Given the description of an element on the screen output the (x, y) to click on. 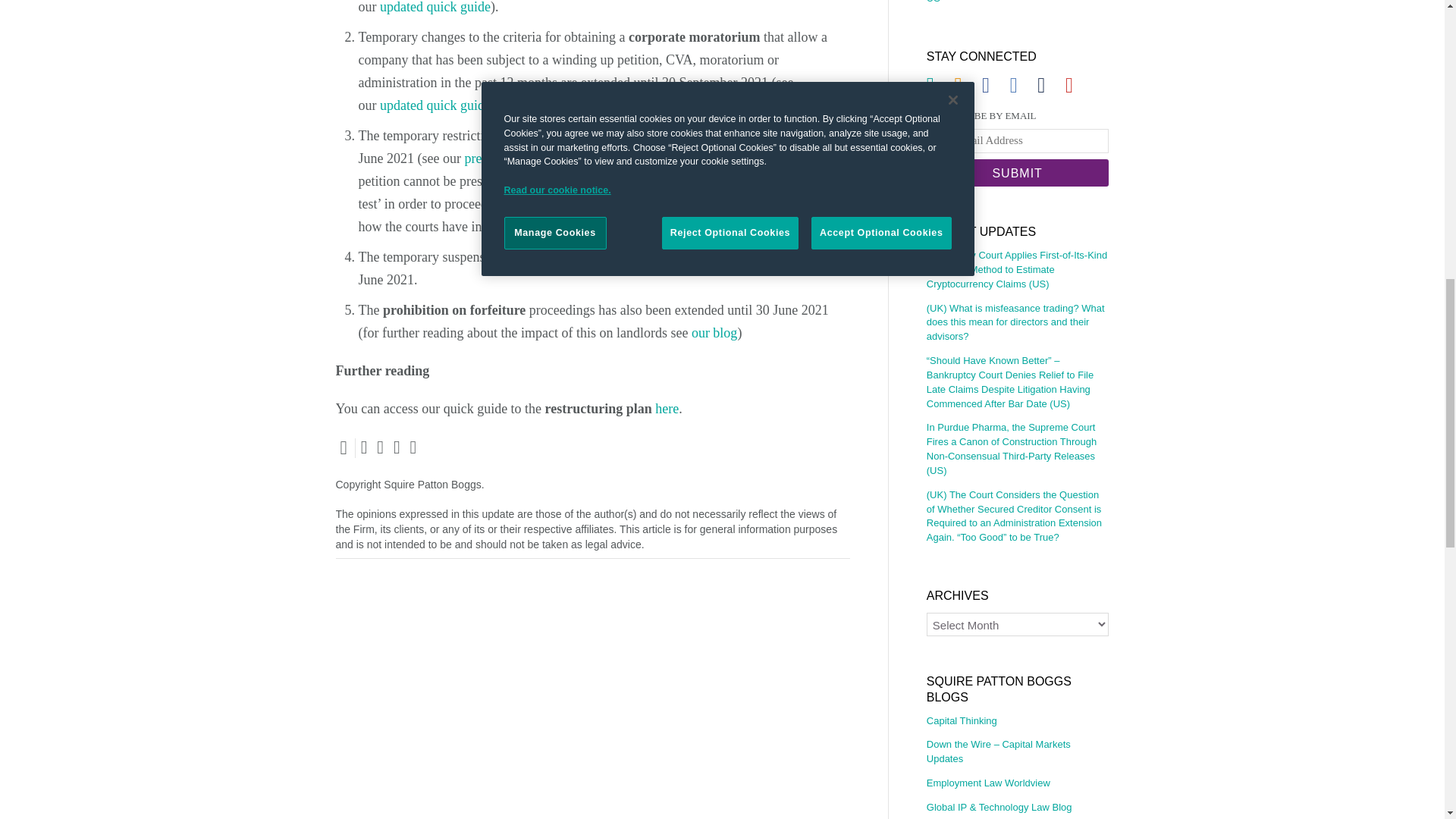
SUBMIT (1017, 172)
our blog (714, 332)
here (764, 203)
US (1017, 5)
SUBMIT (1017, 172)
previous blog (501, 158)
here (666, 408)
updated quick guide (435, 7)
SUBSCRIBE BY EMAIL (1017, 115)
updated quick guide (435, 105)
here (714, 203)
